Given the description of an element on the screen output the (x, y) to click on. 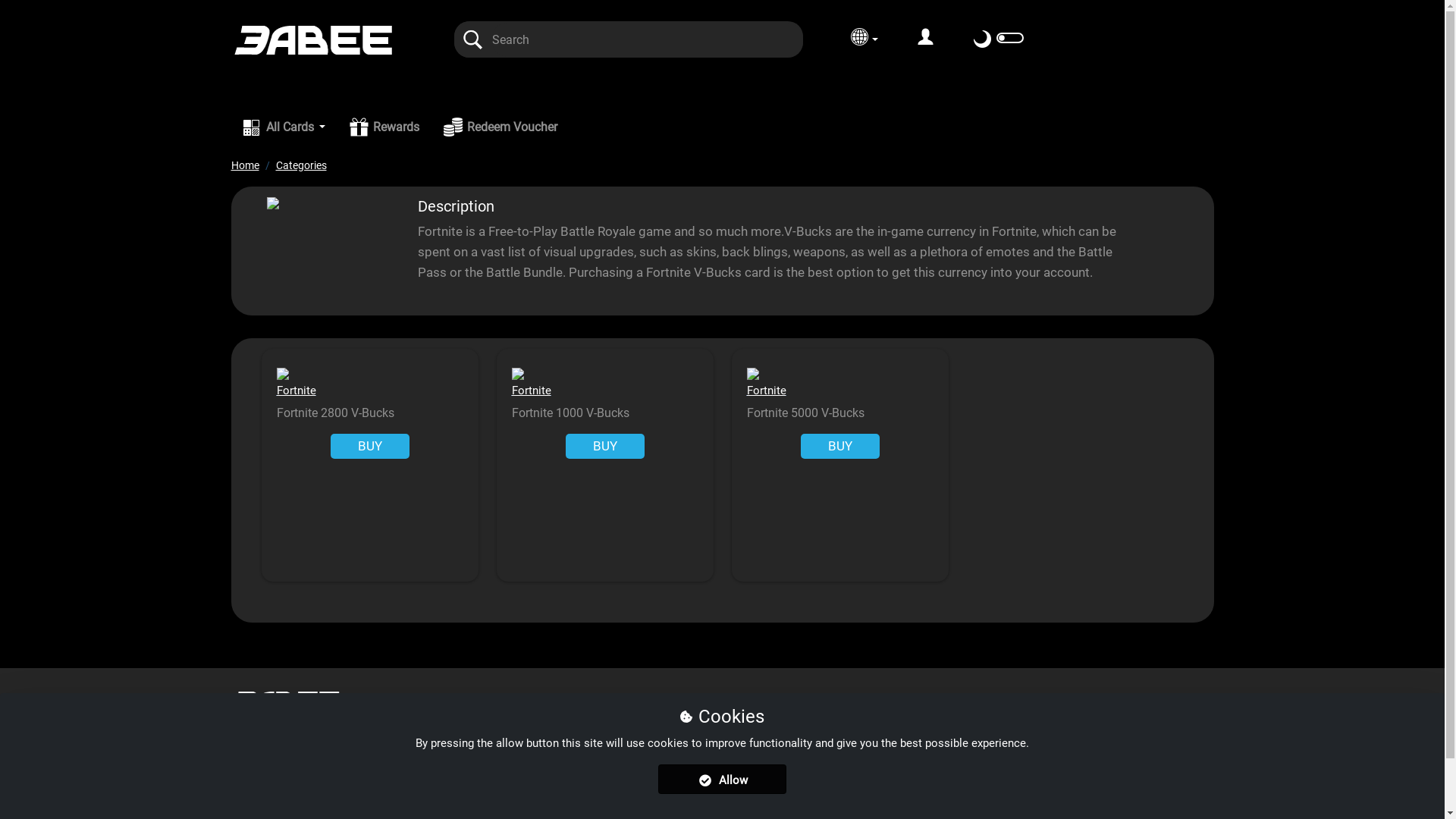
Newsletter Subscription Element type: text (954, 700)
FAQ Element type: text (434, 700)
Allow Element type: text (721, 779)
Contact Us Element type: text (771, 700)
All Cards Element type: text (283, 131)
Home Element type: text (244, 165)
About Us Element type: text (380, 700)
Fortnite Element type: text (295, 390)
Terms & Coditions Element type: text (514, 700)
Categories Element type: text (301, 165)
Privacy Policy Element type: text (620, 700)
BUY Element type: text (604, 445)
on Element type: text (1009, 37)
Rewards Element type: text (384, 126)
Fortnite Element type: text (765, 390)
Fortnite Element type: text (530, 390)
BUY Element type: text (369, 445)
Redeem Voucher Element type: text (500, 126)
Site Map Element type: text (699, 700)
BUY Element type: text (839, 445)
